Given the description of an element on the screen output the (x, y) to click on. 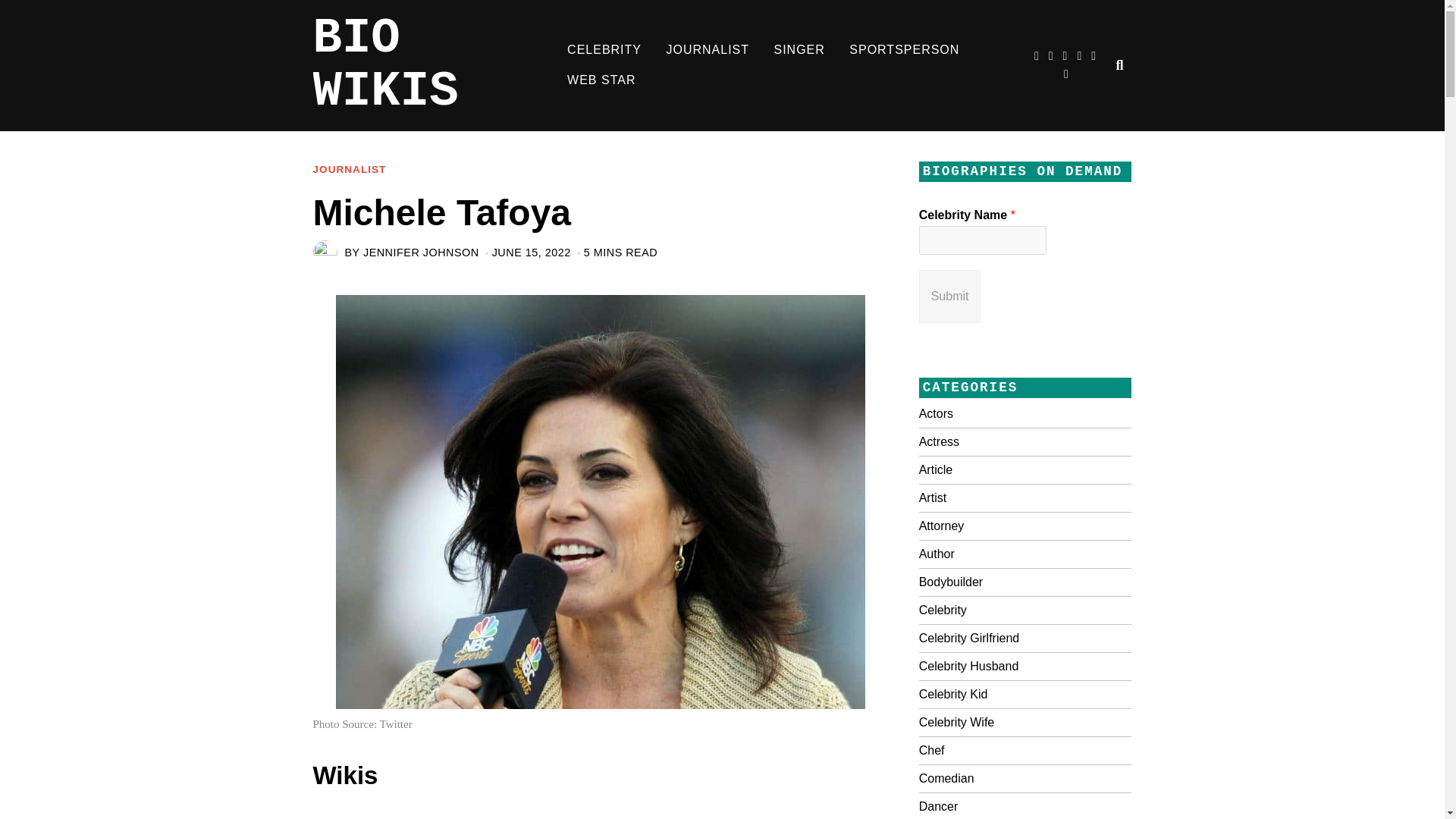
JOURNALIST (707, 50)
CELEBRITY (604, 50)
SPORTSPERSON (903, 50)
WEB STAR (601, 80)
BIO WIKIS (434, 65)
SINGER (798, 50)
JENNIFER JOHNSON (420, 252)
JOURNALIST (349, 169)
